Given the description of an element on the screen output the (x, y) to click on. 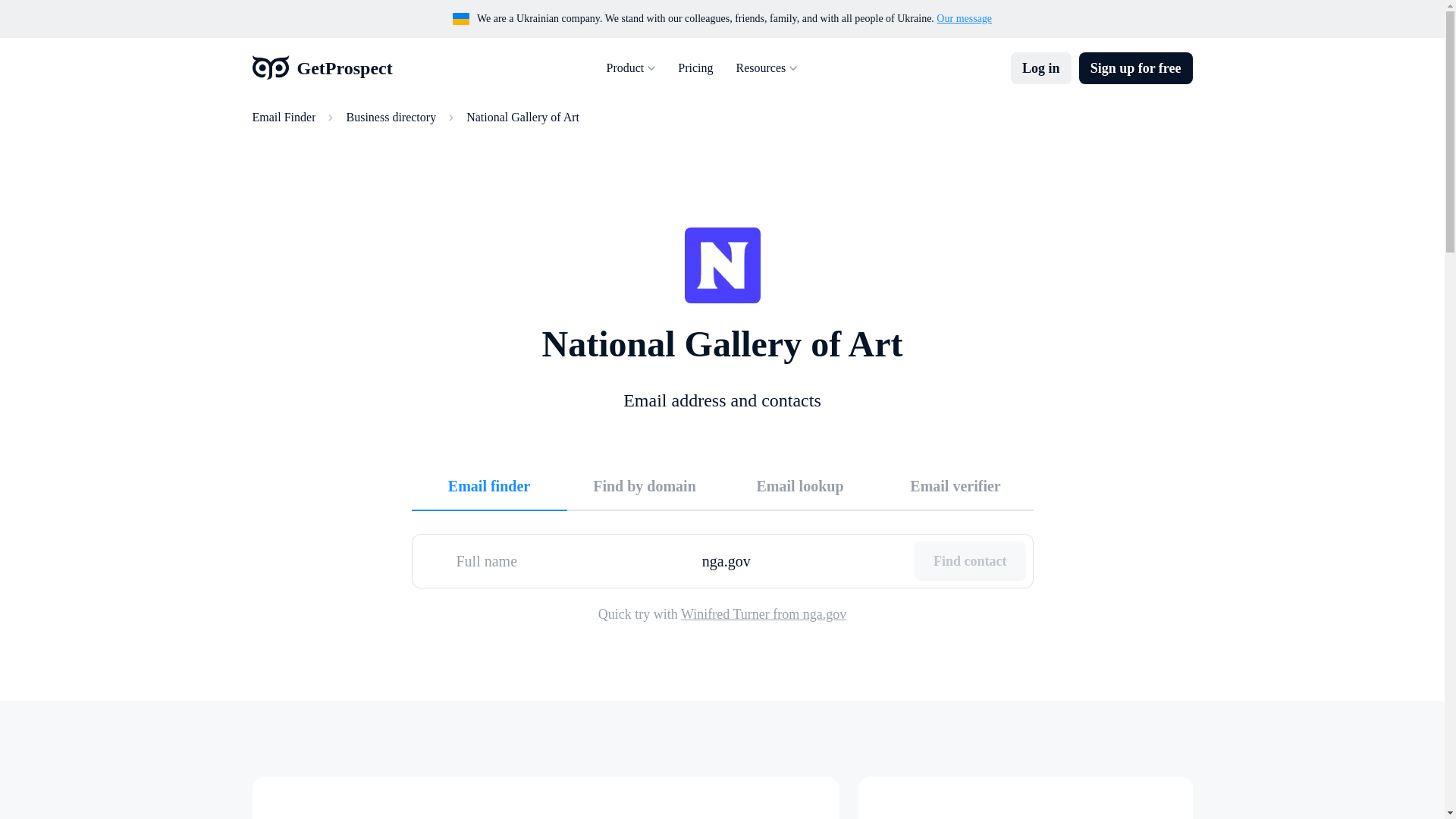
nga.gov (801, 560)
nga.gov (801, 560)
Business directory (390, 117)
Email finder (488, 485)
Sign up for free (1135, 68)
Email verifier (955, 485)
Find contact (970, 560)
Our message (963, 18)
Pricing (694, 68)
GetProspect (321, 68)
